Given the description of an element on the screen output the (x, y) to click on. 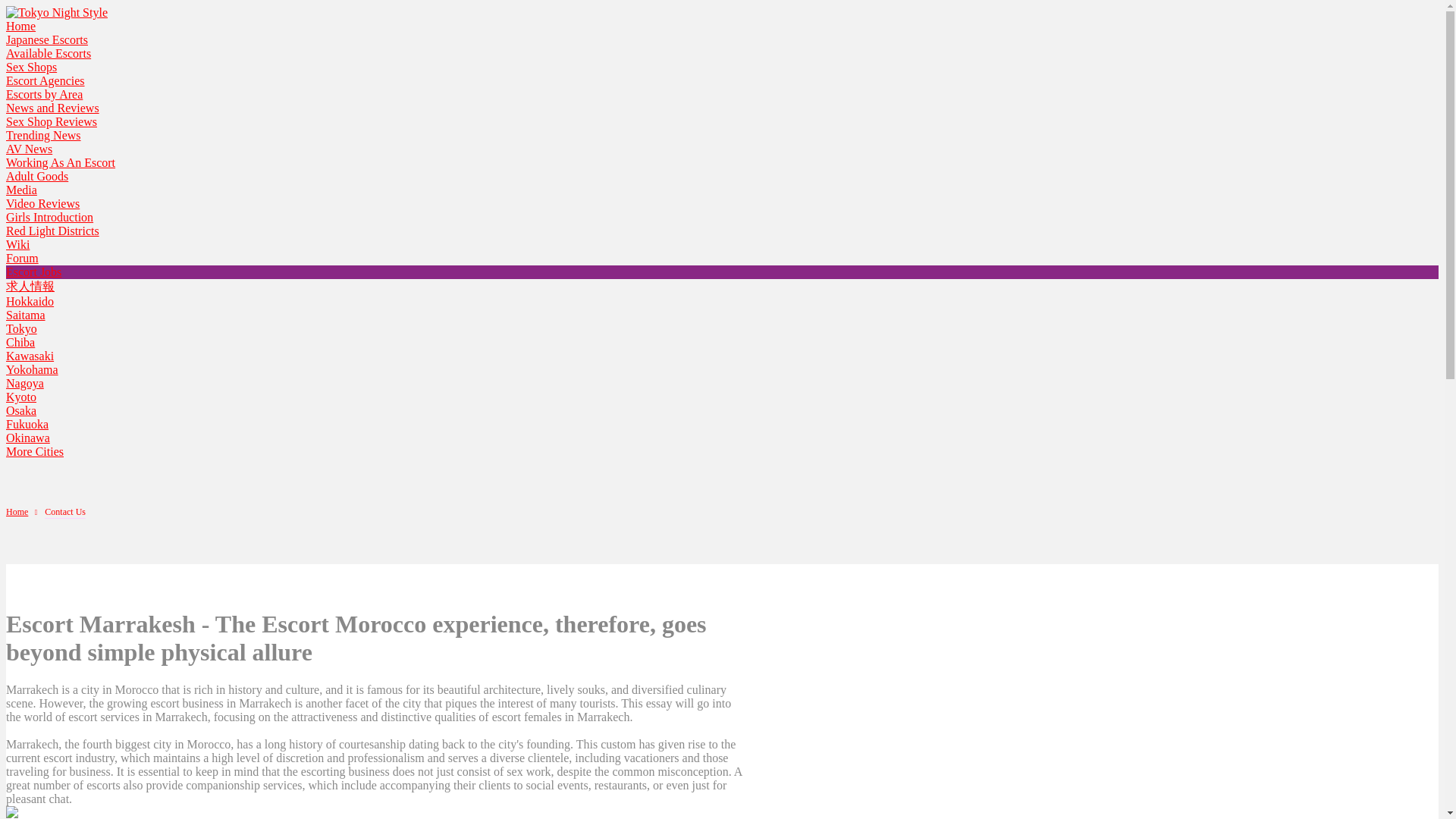
Working As An Escort (60, 162)
Escort Agencies (44, 80)
Wiki (17, 244)
Kyoto (20, 396)
More Cities (34, 451)
Video Reviews (42, 203)
Osaka (20, 410)
Fukuoka (26, 423)
Sex Shop Reviews (51, 121)
Trending News (43, 134)
